Given the description of an element on the screen output the (x, y) to click on. 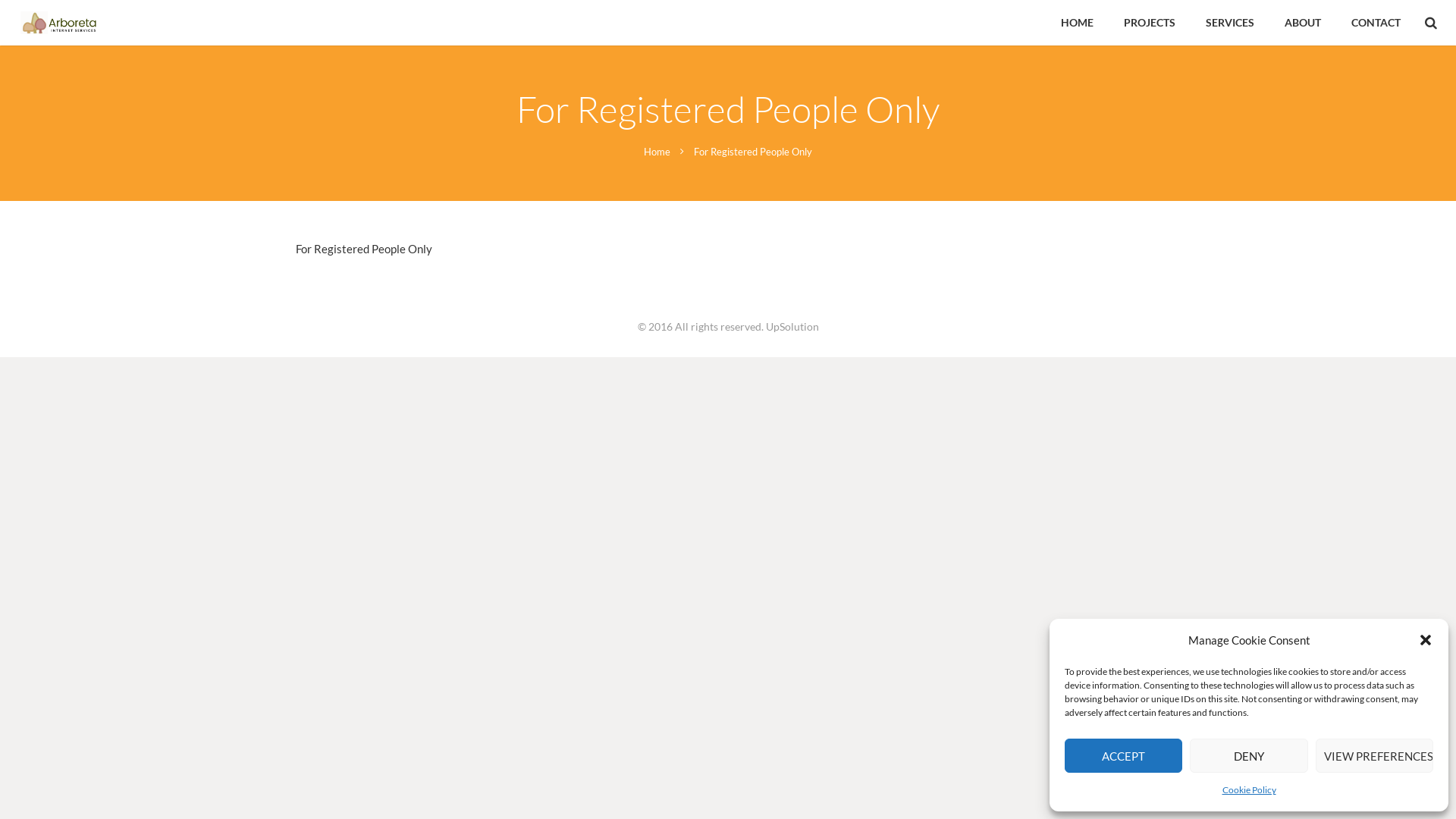
ACCEPT Element type: text (1123, 755)
PROJECTS Element type: text (1149, 22)
CONTACT Element type: text (1375, 22)
ABOUT Element type: text (1302, 22)
HOME Element type: text (1076, 22)
VIEW PREFERENCES Element type: text (1374, 755)
Cookie Policy Element type: text (1249, 790)
DENY Element type: text (1248, 755)
Home Element type: text (656, 151)
SERVICES Element type: text (1229, 22)
